Given the description of an element on the screen output the (x, y) to click on. 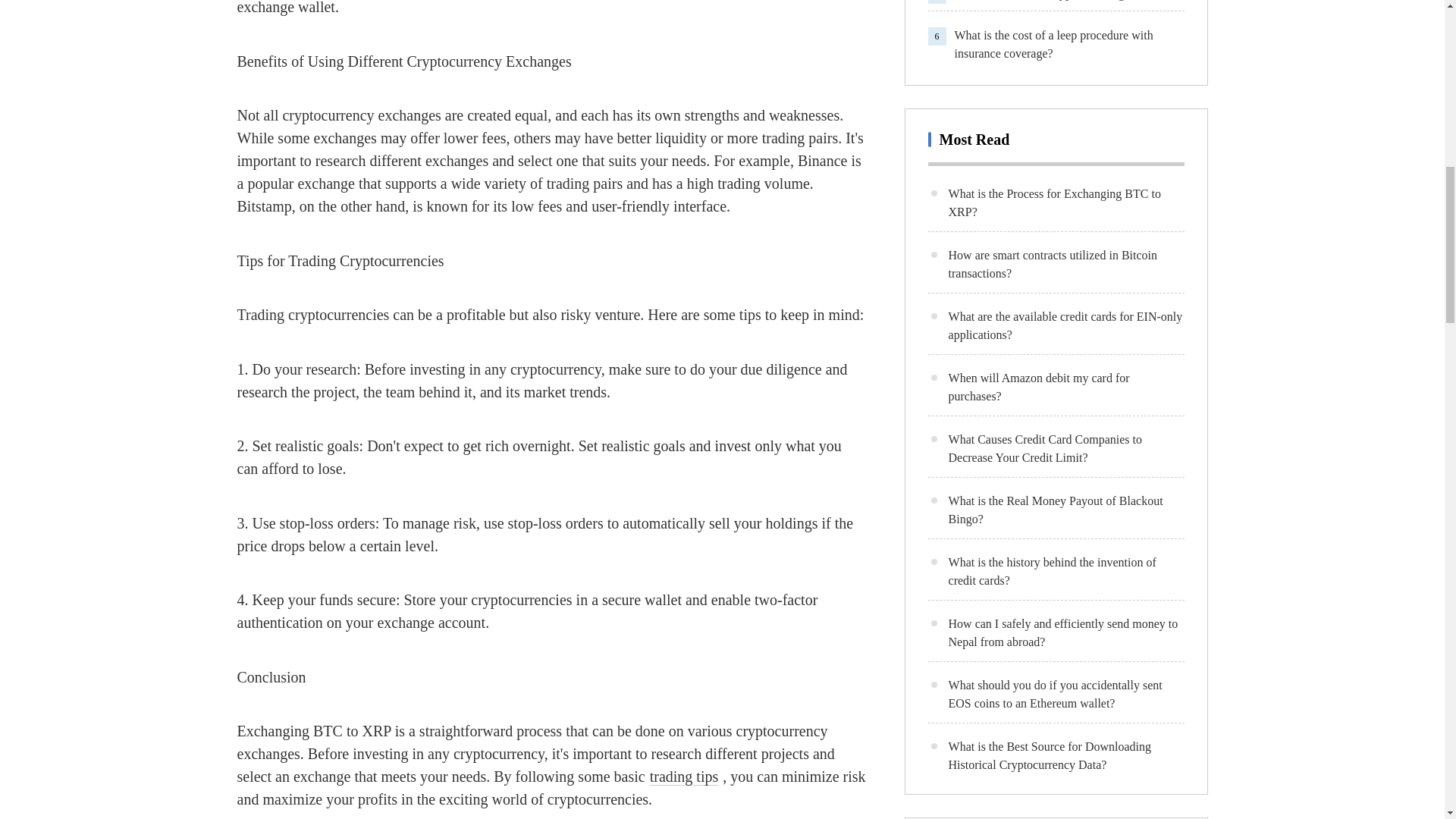
trading tips (684, 776)
trading tips (684, 776)
